Given the description of an element on the screen output the (x, y) to click on. 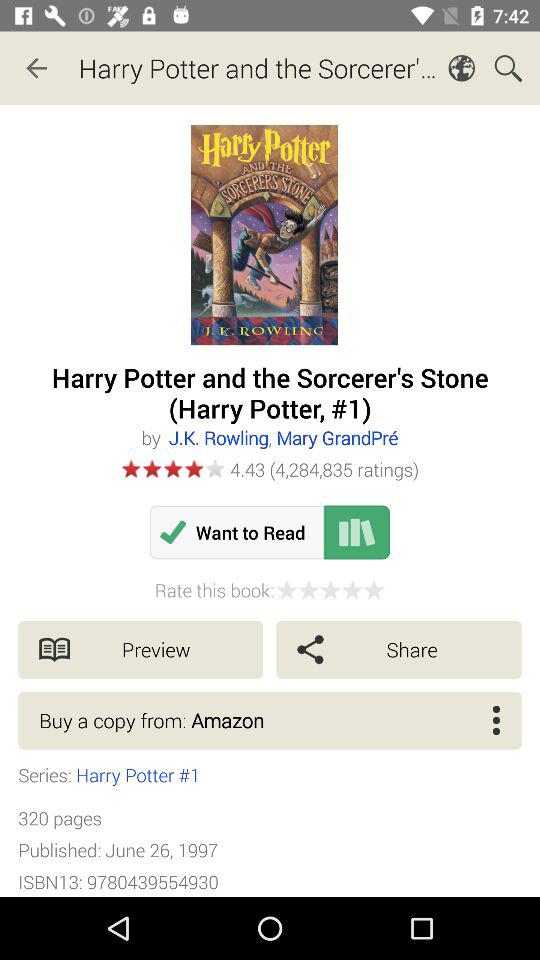
turn off icon above the buy a copy (140, 649)
